Given the description of an element on the screen output the (x, y) to click on. 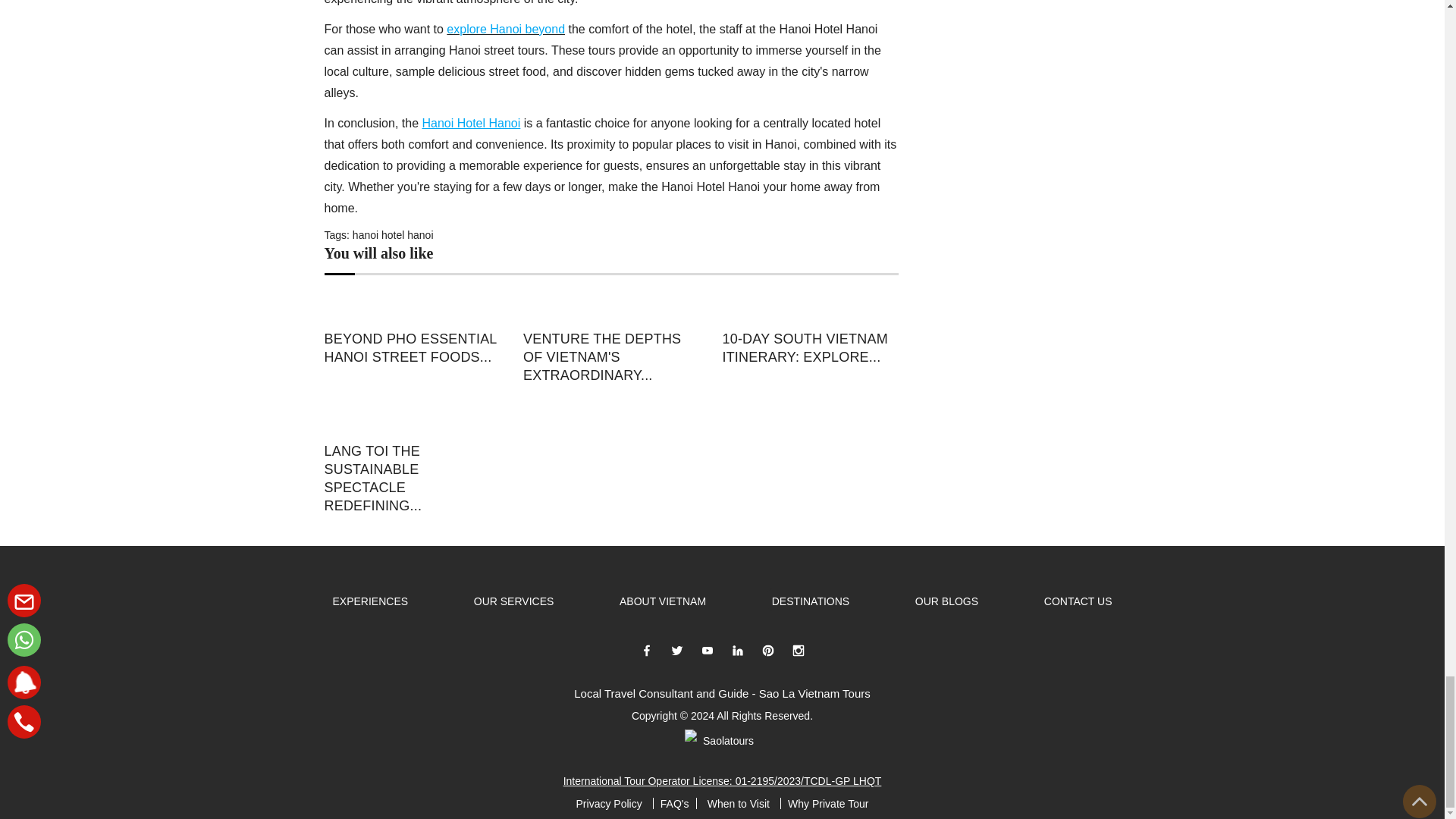
hanoi hotel hanoi (392, 234)
Venture the Depths of Vietnam's Extraordinary Caves (610, 357)
Venture the Depths of Vietnam's Extraordinary Caves (610, 307)
Beyond Pho Essential Hanoi Street Foods Uncovered (412, 348)
Beyond Pho Essential Hanoi Street Foods Uncovered (412, 307)
